Given the description of an element on the screen output the (x, y) to click on. 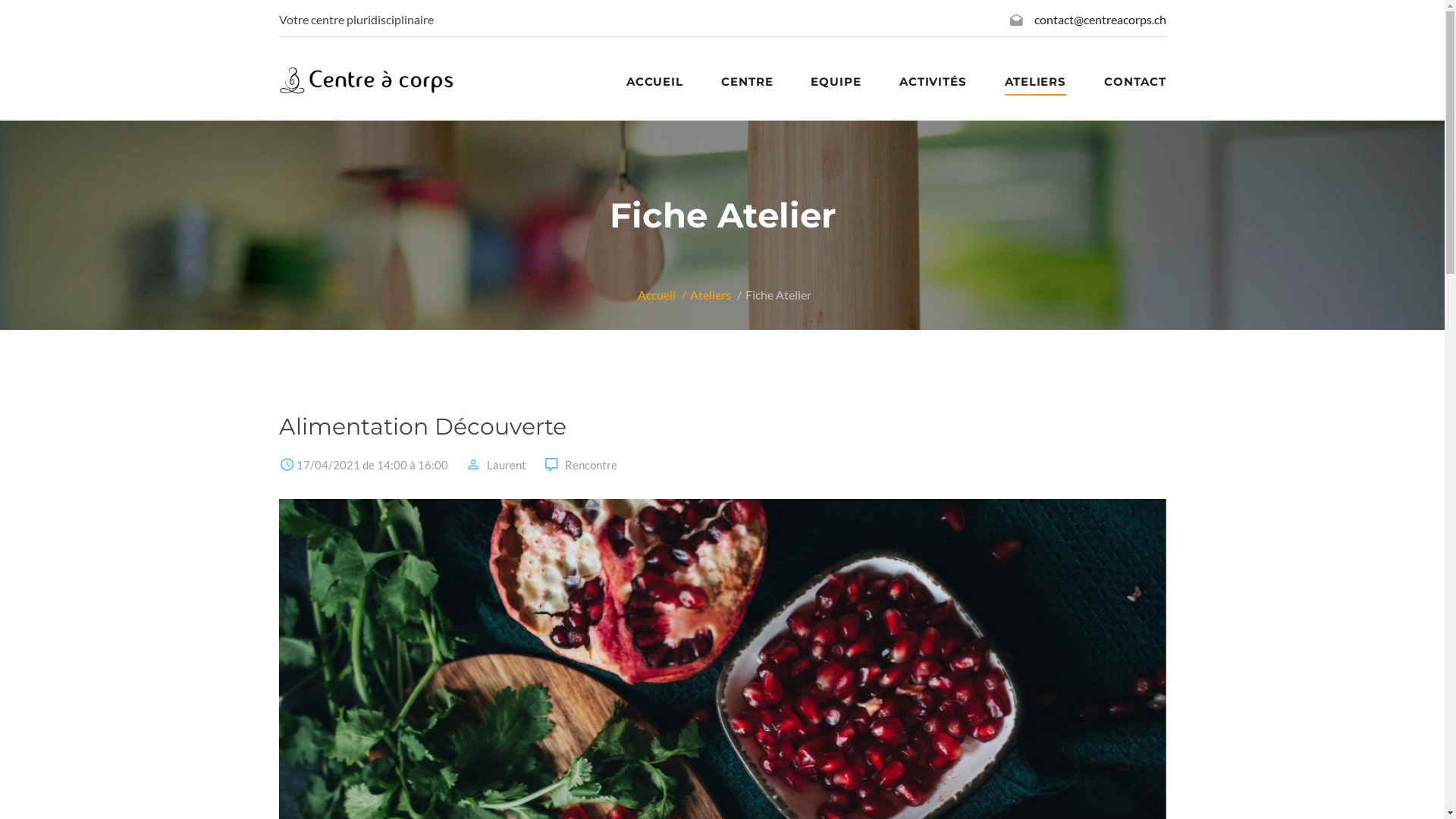
contact@centreacorps.ch Element type: text (1100, 19)
CENTRE Element type: text (746, 81)
CONTACT Element type: text (1134, 81)
ATELIERS Element type: text (1035, 81)
Ateliers Element type: text (710, 294)
EQUIPE Element type: text (835, 81)
ACCUEIL Element type: text (654, 81)
Accueil Element type: text (655, 294)
